Given the description of an element on the screen output the (x, y) to click on. 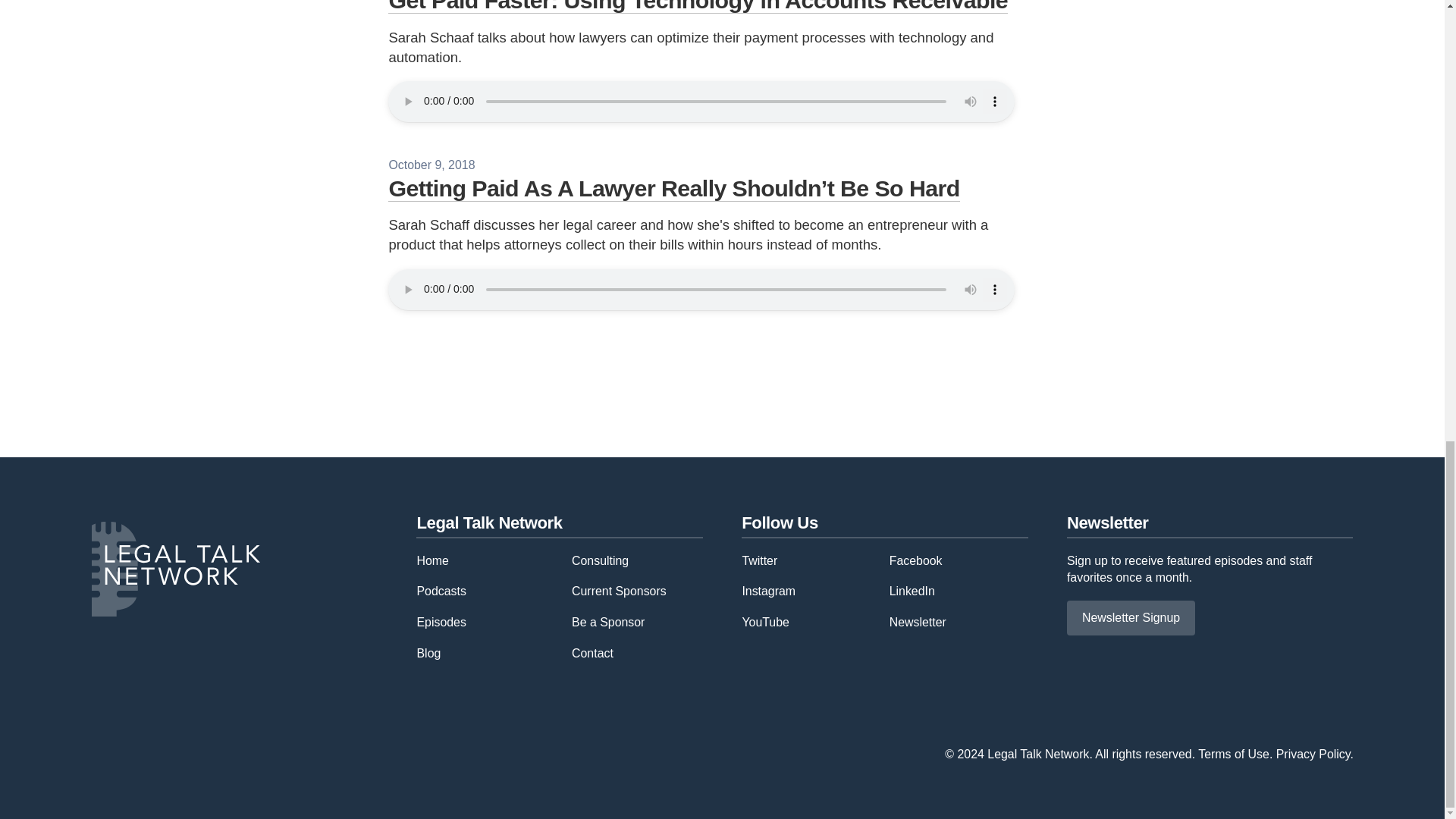
Facebook (915, 559)
Episodes (440, 621)
Blog (428, 653)
Twitter (759, 559)
Consulting (600, 559)
Get Paid Faster: Using Technology in Accounts Receivable (697, 6)
Home (432, 559)
Contact (592, 653)
Podcasts (440, 590)
Be a Sponsor (608, 621)
